Given the description of an element on the screen output the (x, y) to click on. 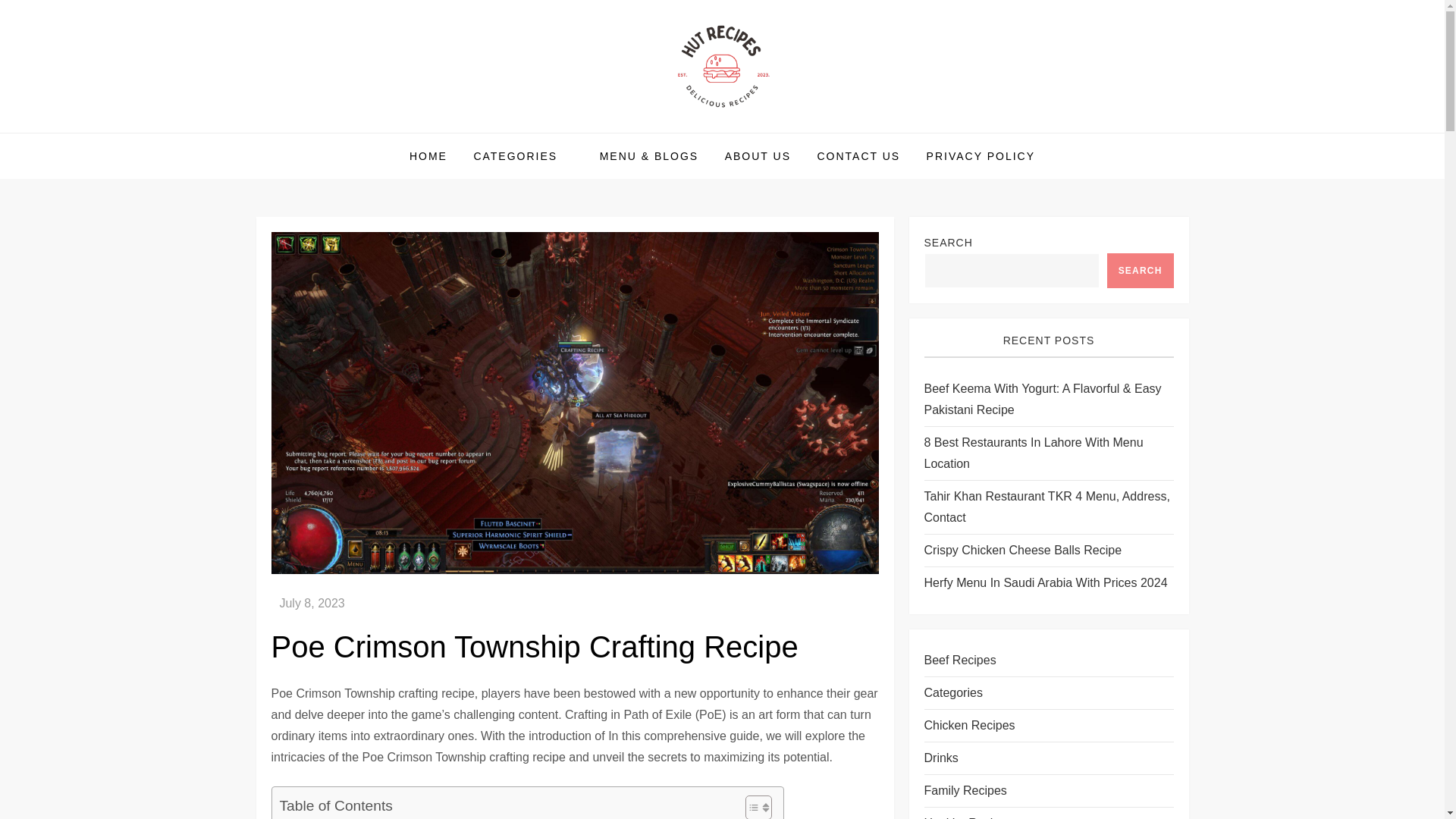
ABOUT US (757, 156)
HOME (427, 156)
CONTACT US (858, 156)
PRIVACY POLICY (980, 156)
July 8, 2023 (311, 603)
CATEGORIES (523, 156)
Hut Recipes (339, 131)
